Given the description of an element on the screen output the (x, y) to click on. 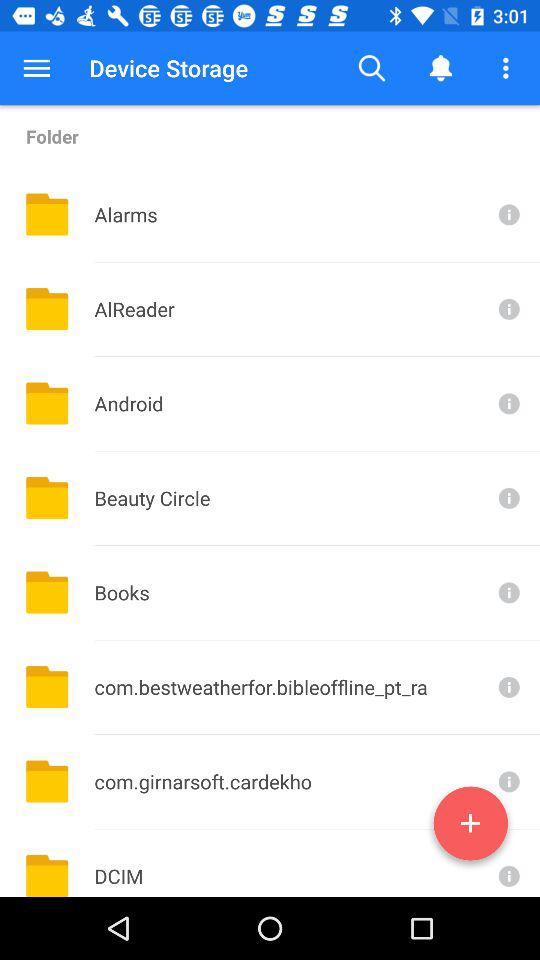
android folder info (507, 403)
